Given the description of an element on the screen output the (x, y) to click on. 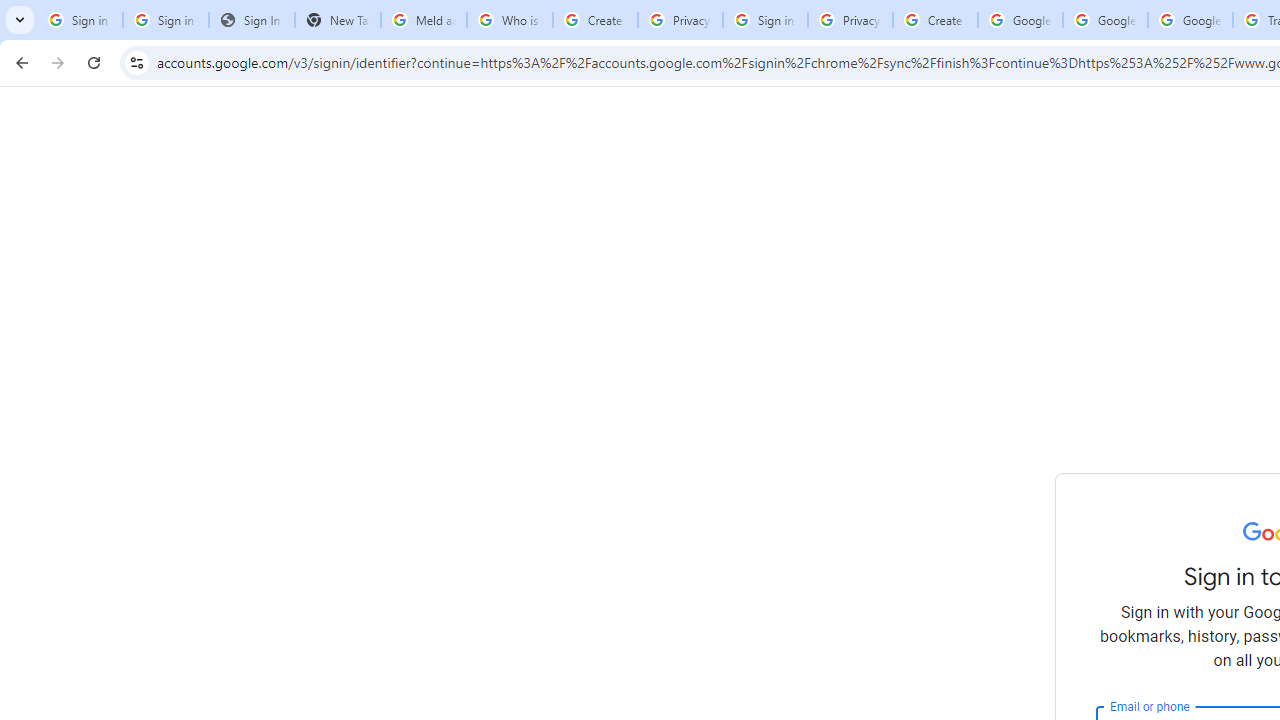
Sign in - Google Accounts (79, 20)
Sign In - USA TODAY (251, 20)
Sign in - Google Accounts (165, 20)
Who is my administrator? - Google Account Help (509, 20)
New Tab (337, 20)
Create your Google Account (935, 20)
Google Account (1190, 20)
